Given the description of an element on the screen output the (x, y) to click on. 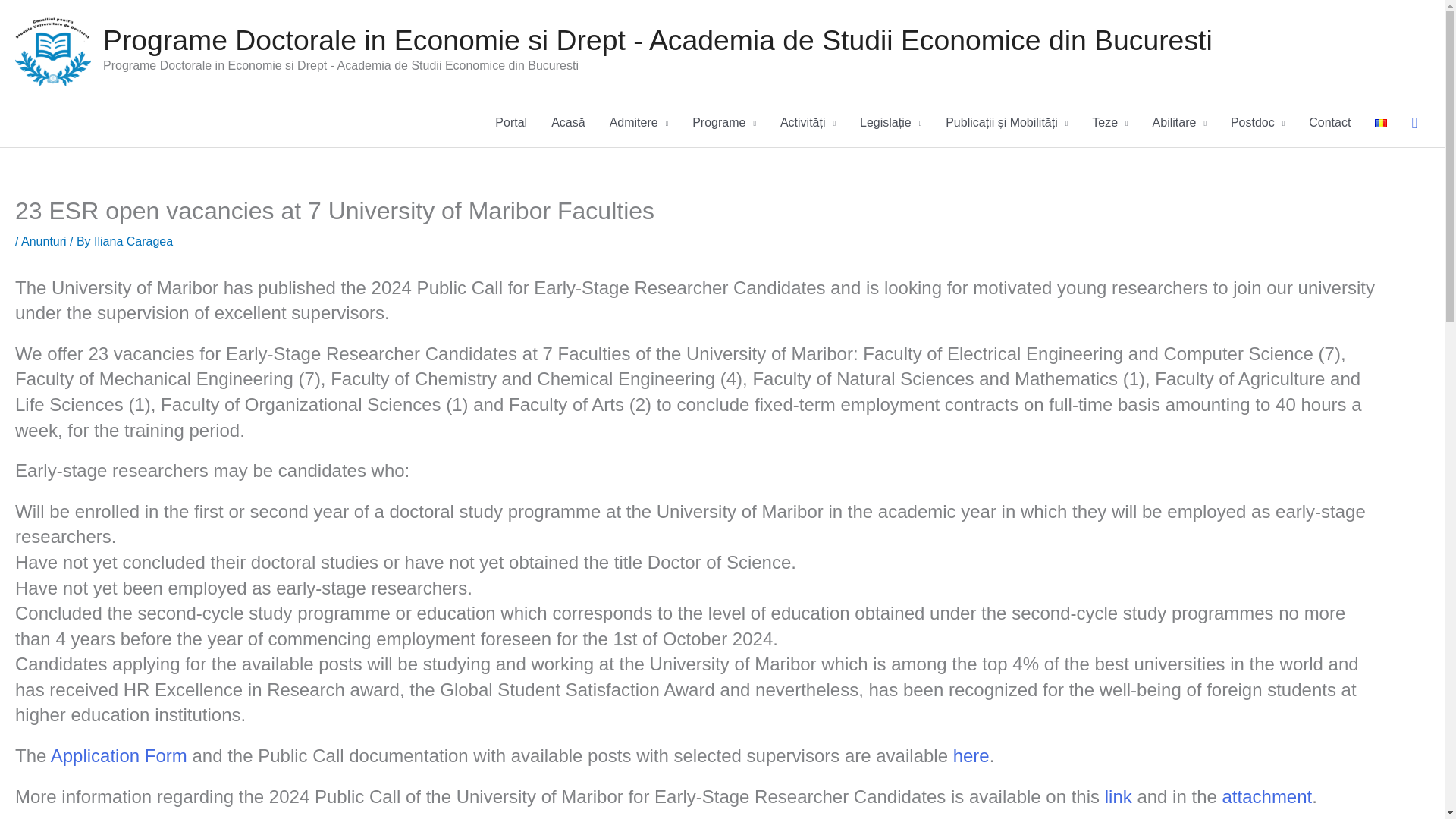
Admitere (638, 122)
Programe (723, 122)
View all posts by Iliana Caragea (133, 241)
Portal (510, 122)
